Given the description of an element on the screen output the (x, y) to click on. 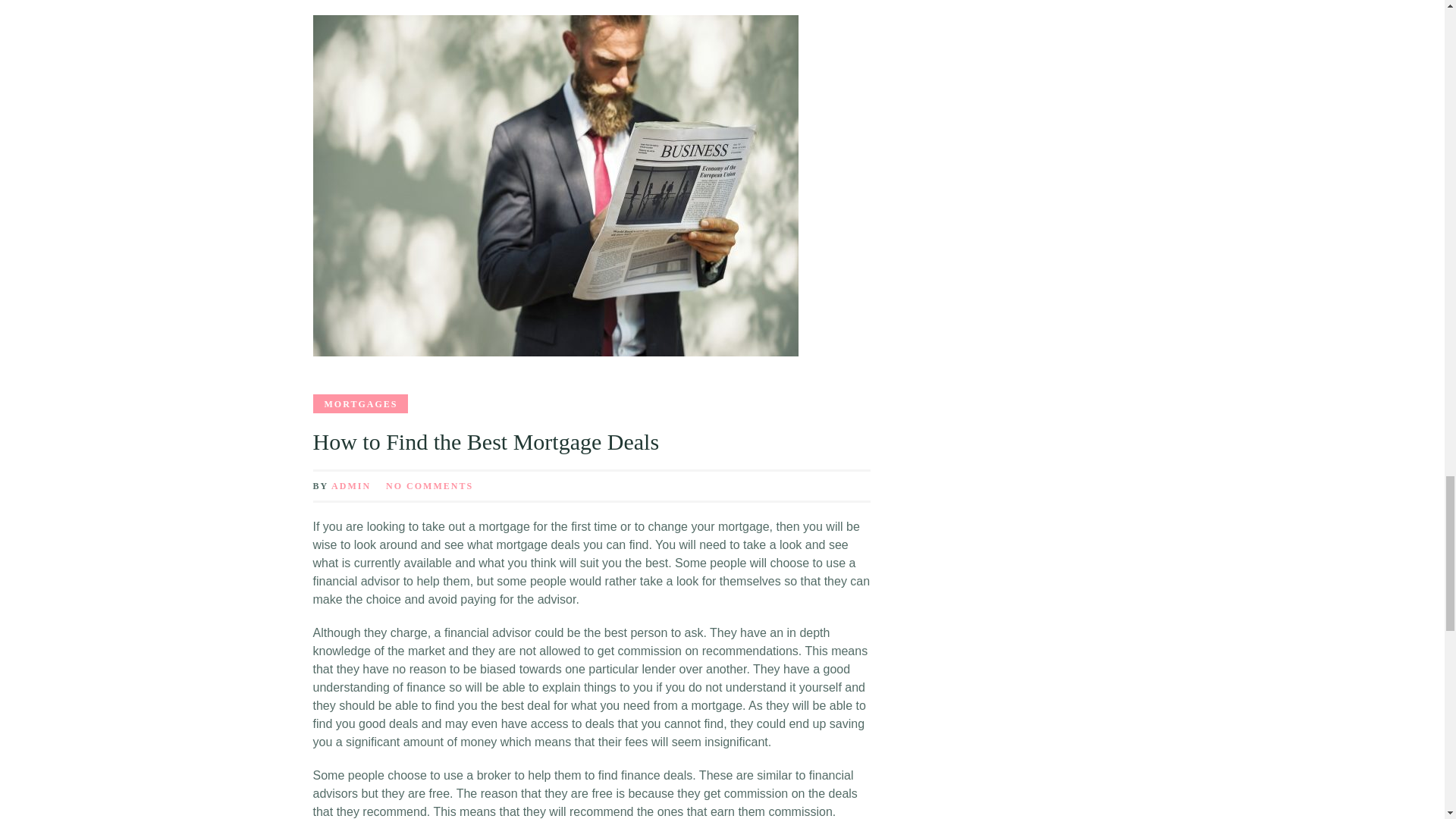
NO COMMENTS (429, 485)
Posts by admin (351, 485)
ADMIN (351, 485)
How to Find the Best Mortgage Deals (486, 441)
MORTGAGES (360, 403)
View all posts in Mortgages (360, 403)
How to Find the Best Mortgage Deals (486, 441)
